Given the description of an element on the screen output the (x, y) to click on. 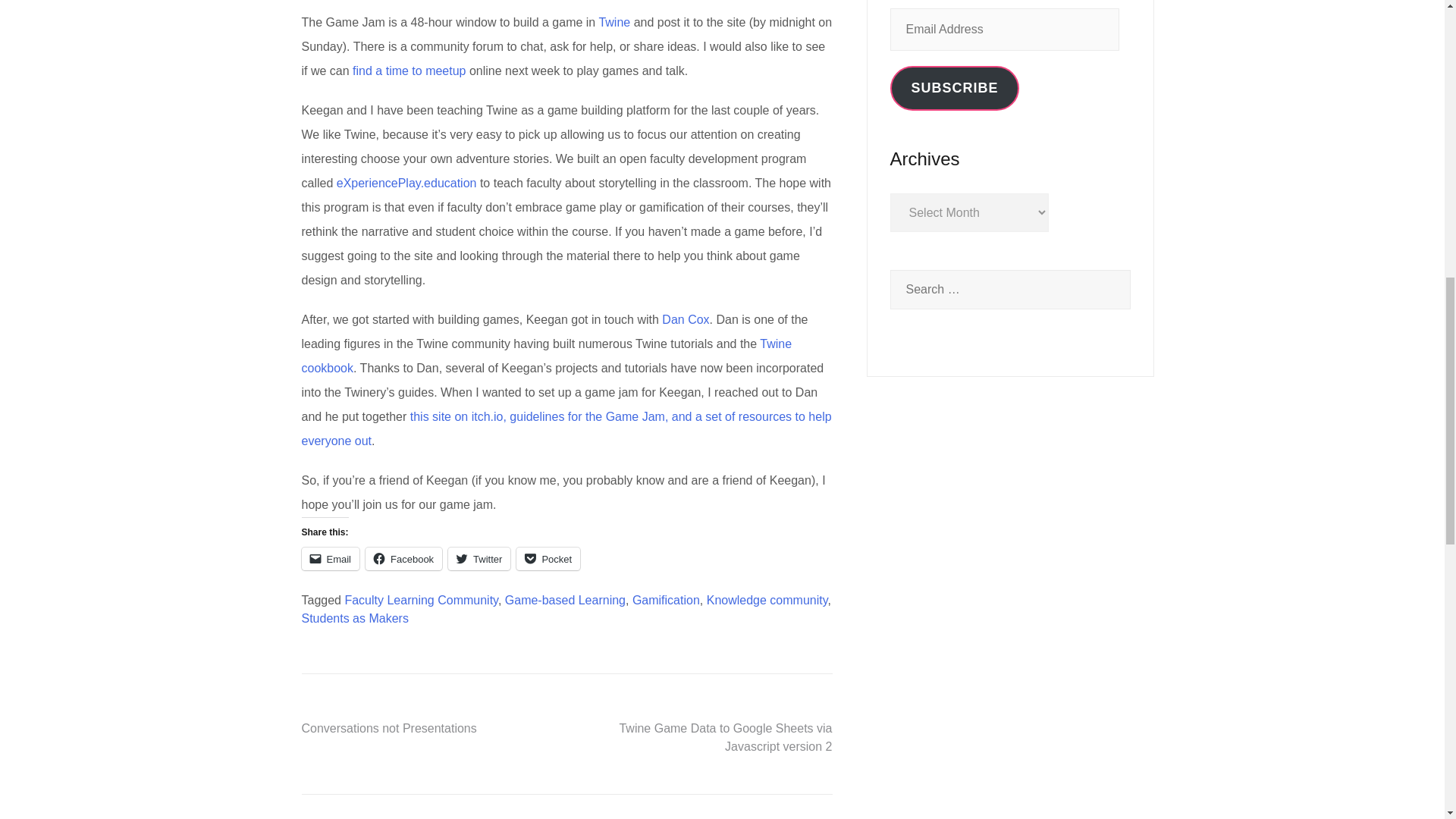
Facebook (403, 558)
Twine cookbook (546, 355)
Pocket (547, 558)
Gamification (665, 599)
Click to share on Facebook (403, 558)
Twine (614, 21)
Faculty Learning Community (420, 599)
Email (330, 558)
Dan Cox (685, 318)
Click to share on Twitter (479, 558)
Game-based Learning (565, 599)
Conversations not Presentations (389, 727)
eXperiencePlay.education (406, 182)
Students as Makers (355, 617)
